Given the description of an element on the screen output the (x, y) to click on. 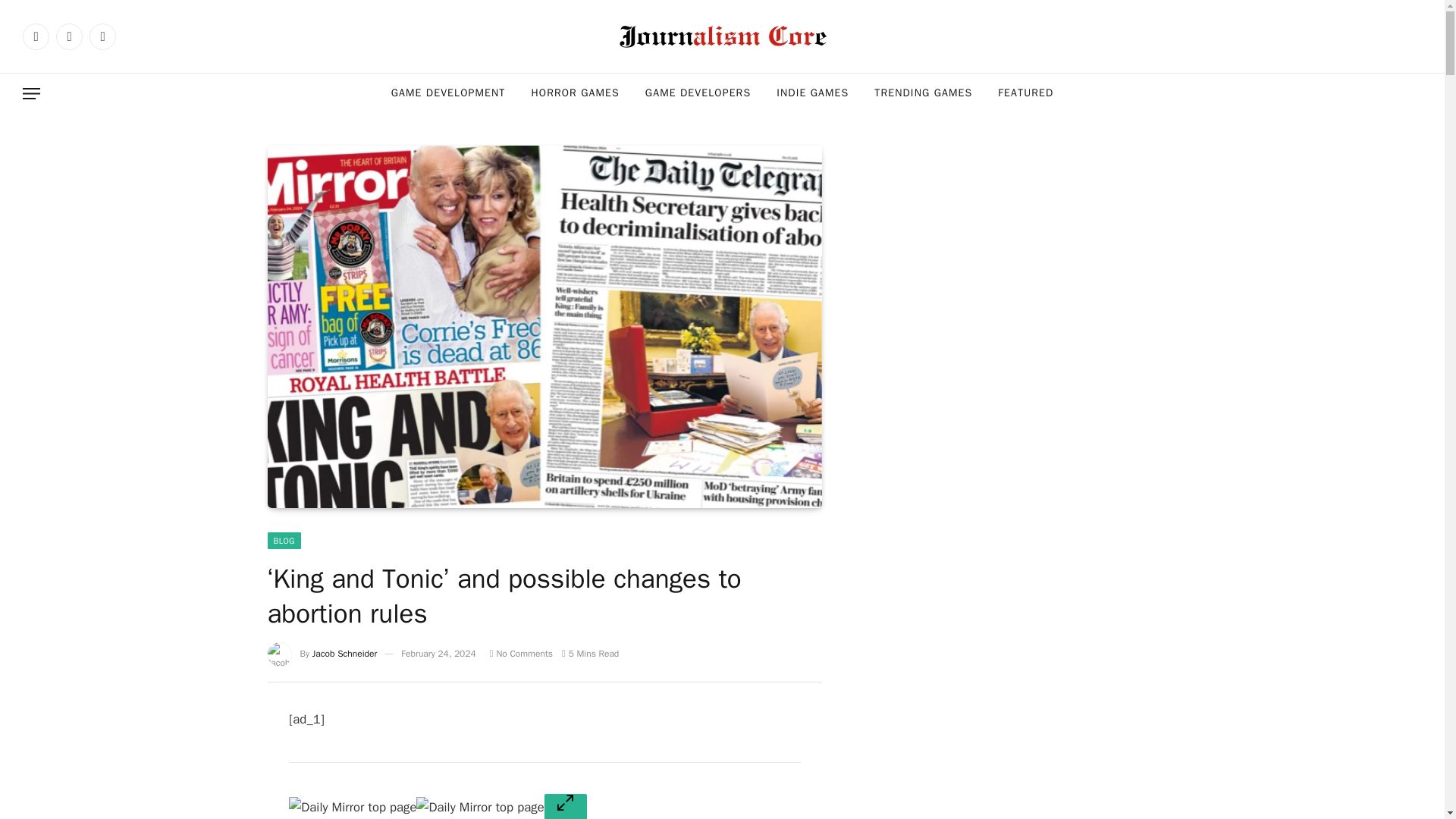
Instagram (102, 35)
BLOG (282, 540)
Jacob Schneider (345, 653)
Journalism Core (721, 35)
Facebook (36, 35)
GAME DEVELOPERS (696, 93)
TRENDING GAMES (923, 93)
Posts by Jacob Schneider (345, 653)
INDIE GAMES (811, 93)
FEATURED (1025, 93)
GAME DEVELOPMENT (448, 93)
HORROR GAMES (574, 93)
No Comments (521, 653)
